Given the description of an element on the screen output the (x, y) to click on. 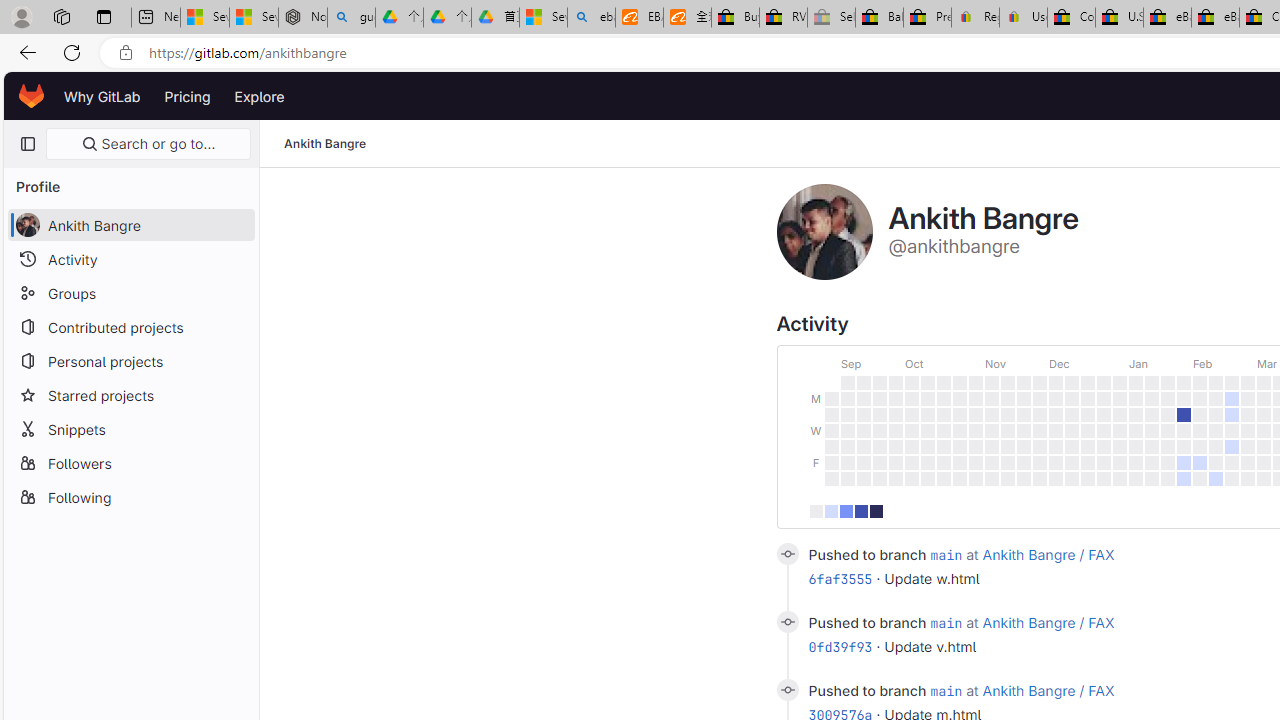
Baby Keepsakes & Announcements for sale | eBay (879, 17)
Buy Auto Parts & Accessories | eBay (735, 17)
RV, Trailer & Camper Steps & Ladders for sale | eBay (783, 17)
